Given the description of an element on the screen output the (x, y) to click on. 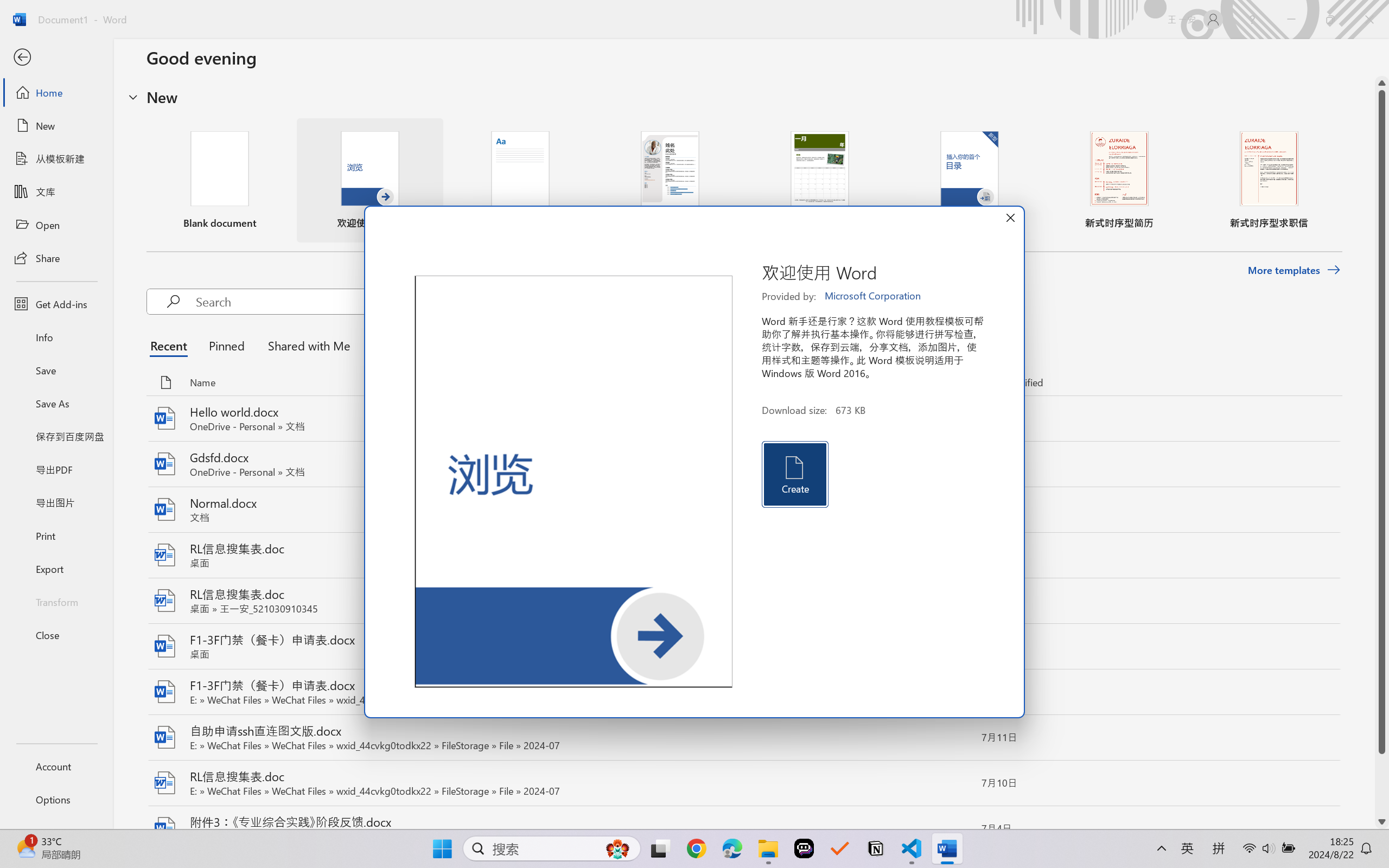
Create (794, 473)
Back (56, 57)
Line up (1382, 83)
Microsoft Edge (731, 848)
New (56, 125)
